Given the description of an element on the screen output the (x, y) to click on. 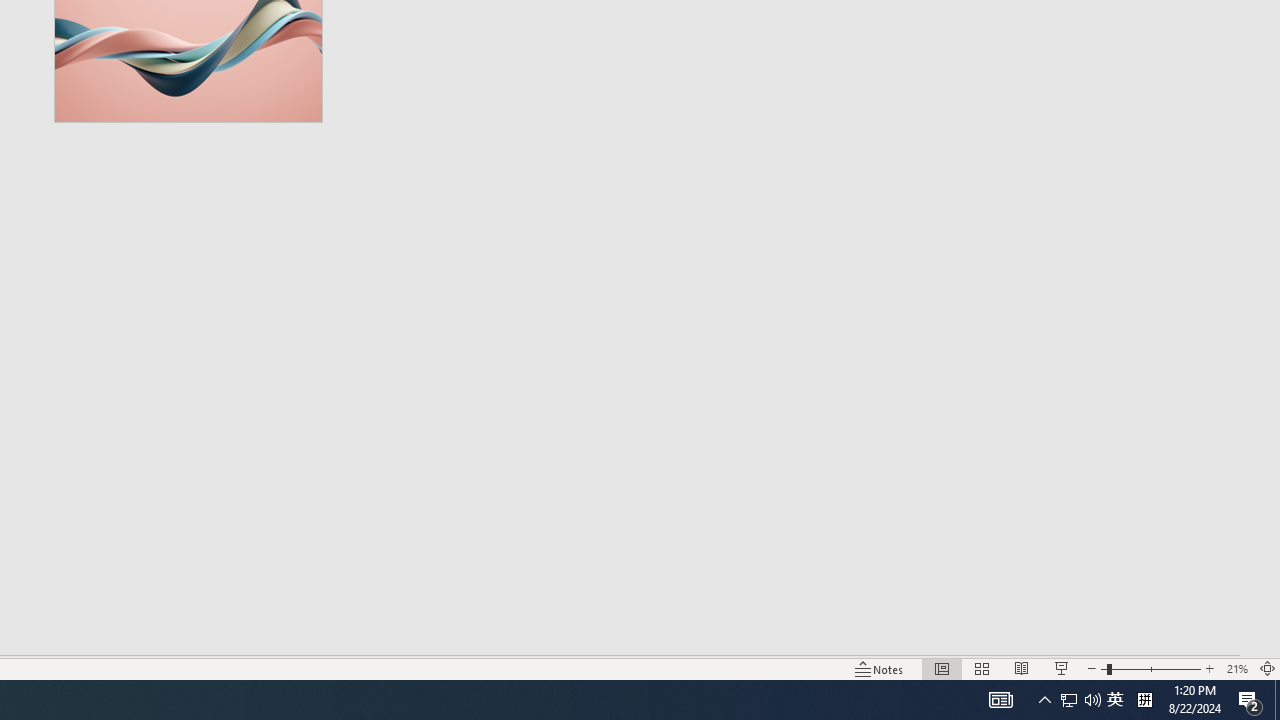
Zoom 21% (1236, 668)
